Given the description of an element on the screen output the (x, y) to click on. 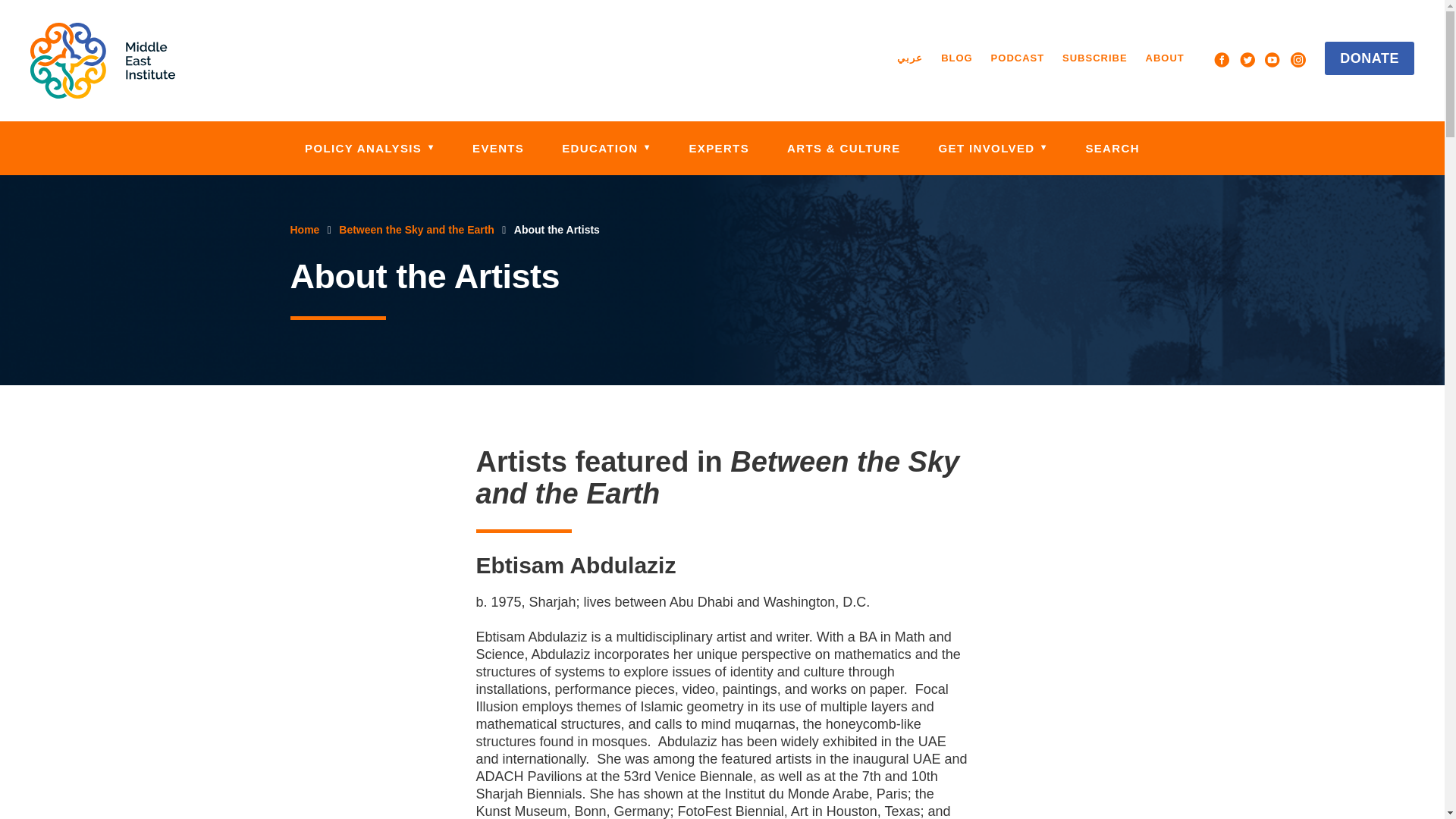
MEI Insights blog (956, 57)
Home (102, 60)
